Given the description of an element on the screen output the (x, y) to click on. 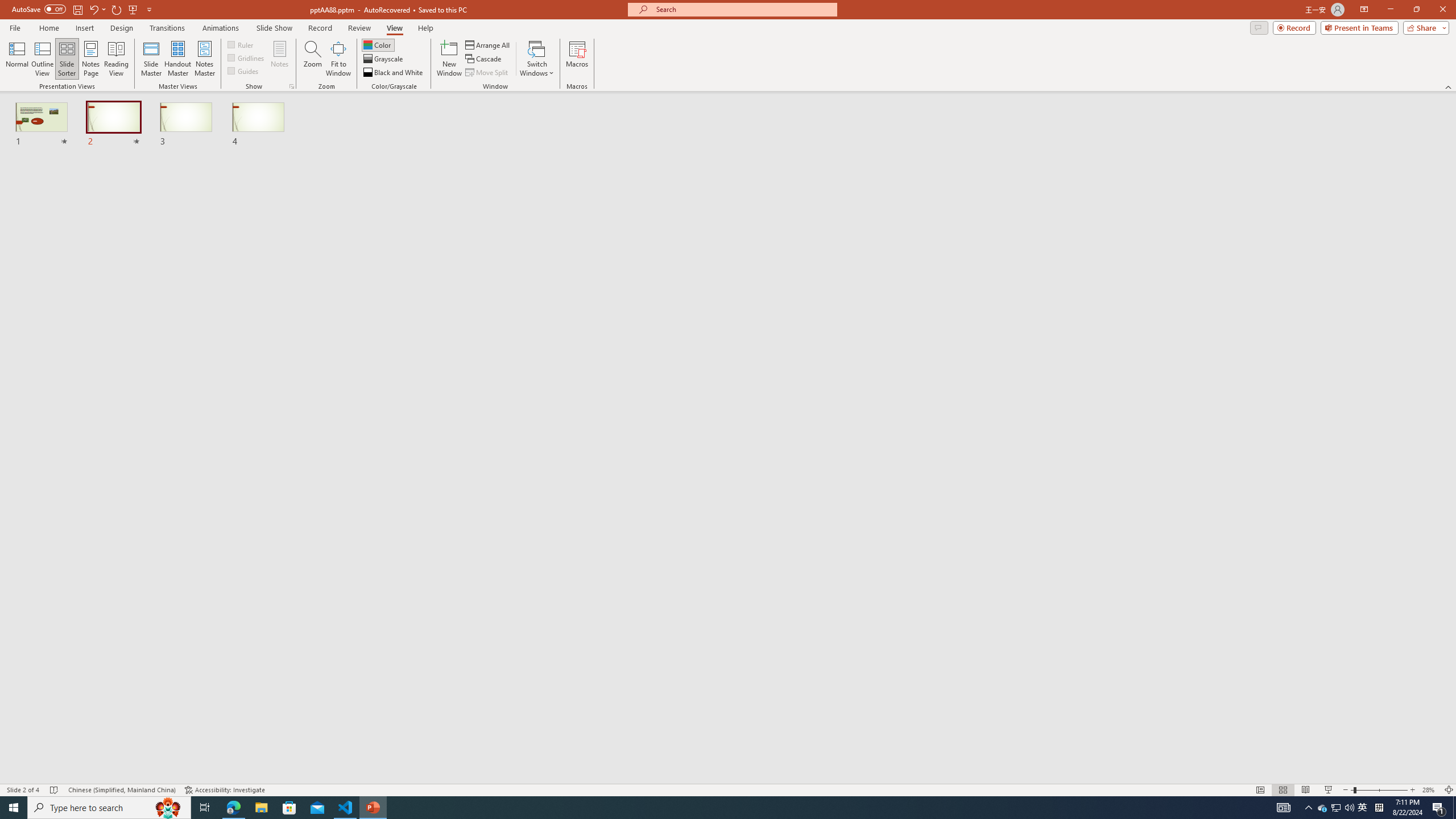
Outline View (42, 58)
Black and White (393, 72)
Fit to Window (338, 58)
Ruler (241, 44)
Color (377, 44)
